Given the description of an element on the screen output the (x, y) to click on. 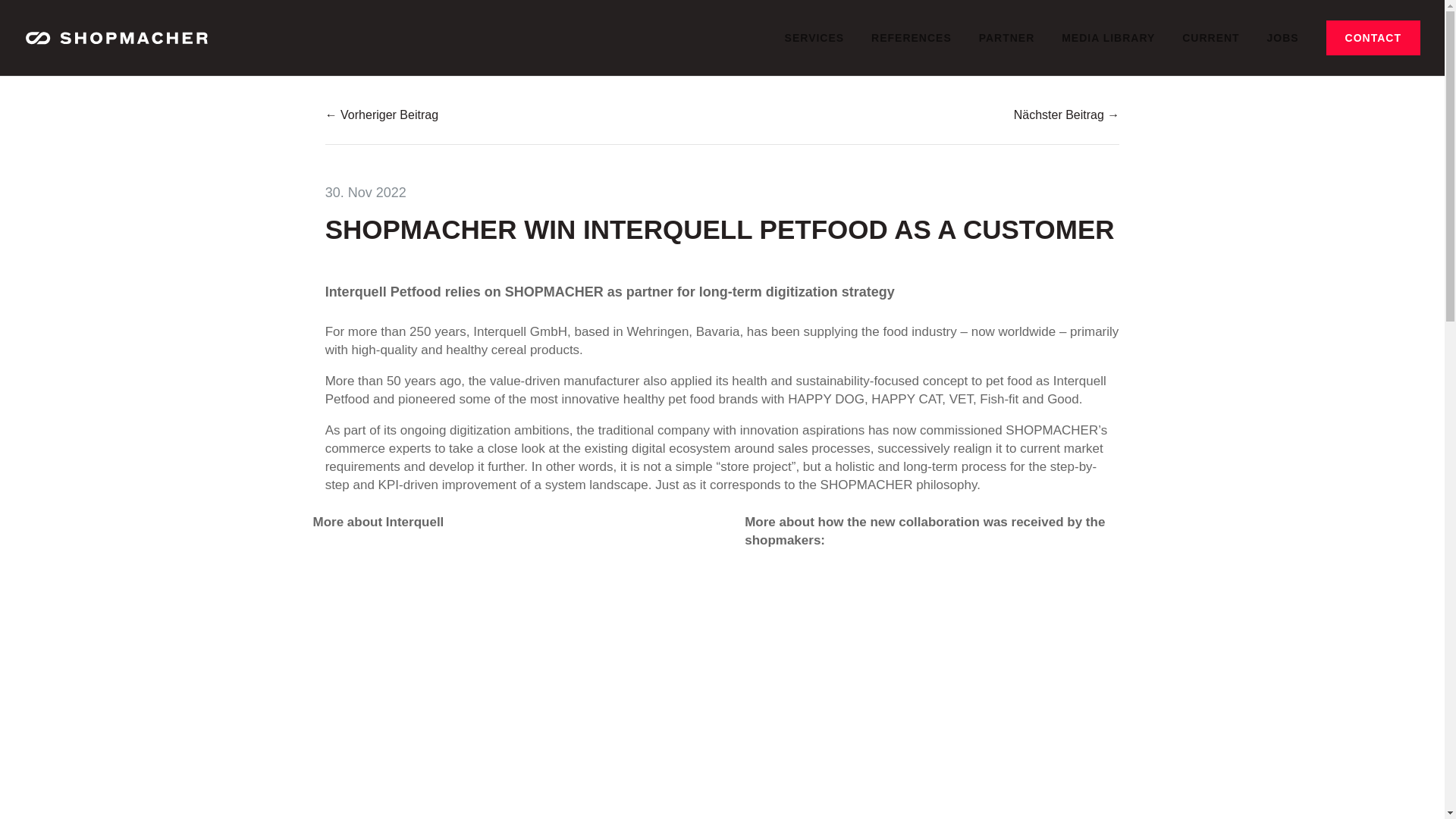
REFERENCES (911, 49)
MEDIA LIBRARY (1107, 49)
PARTNER (1006, 49)
Interquell - Pioniere kerngesunder Nahrung (505, 640)
SHOPMACHER x Interquell Petfood (937, 658)
SERVICES (814, 49)
JOBS (1282, 49)
CONTACT (1373, 37)
CURRENT (1210, 49)
